Given the description of an element on the screen output the (x, y) to click on. 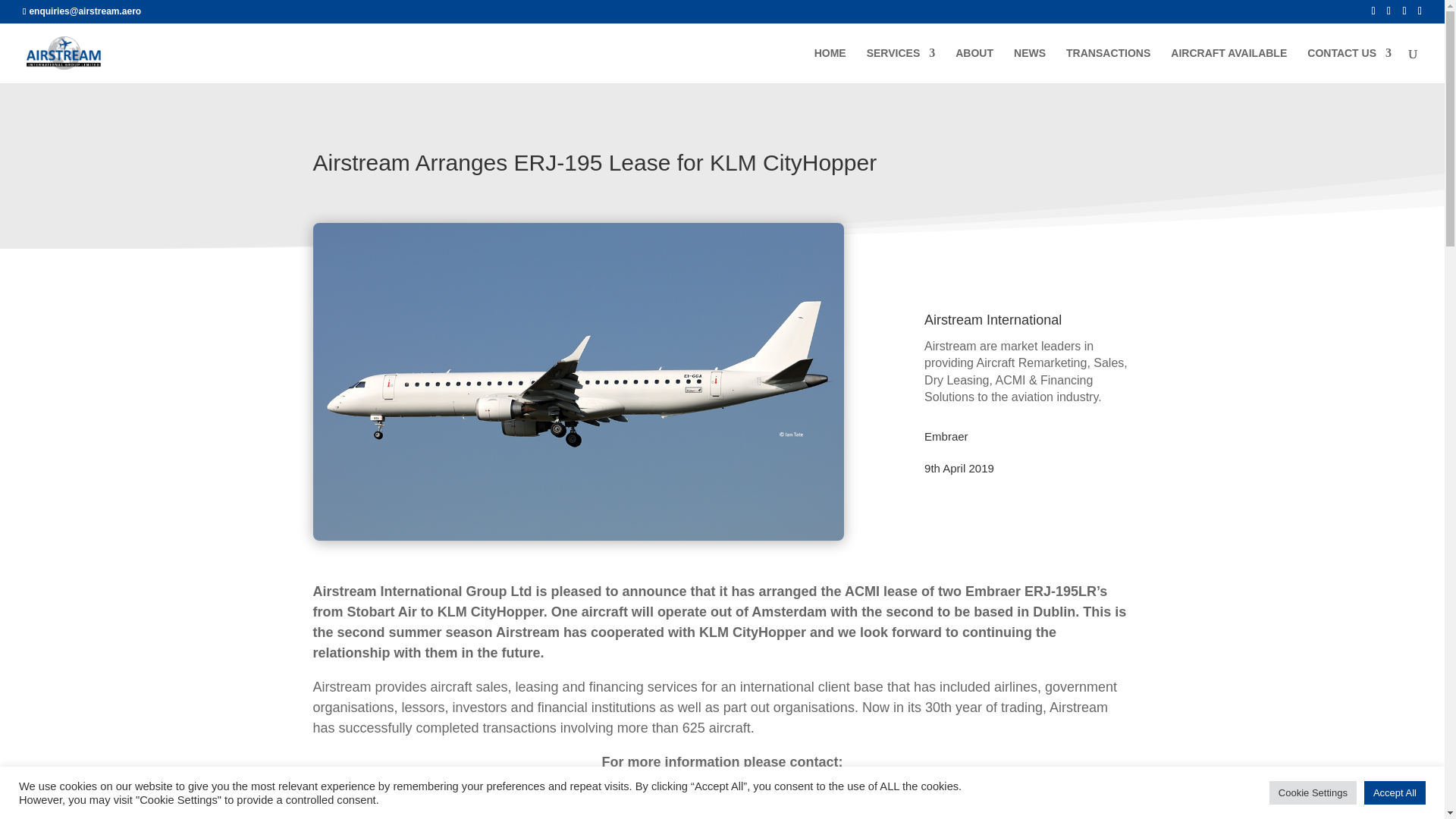
TRANSACTIONS (1107, 65)
AIRCRAFT AVAILABLE (1228, 65)
ABOUT (973, 65)
NEWS (1029, 65)
SERVICES (901, 65)
HOME (829, 65)
CONTACT US (1349, 65)
